Given the description of an element on the screen output the (x, y) to click on. 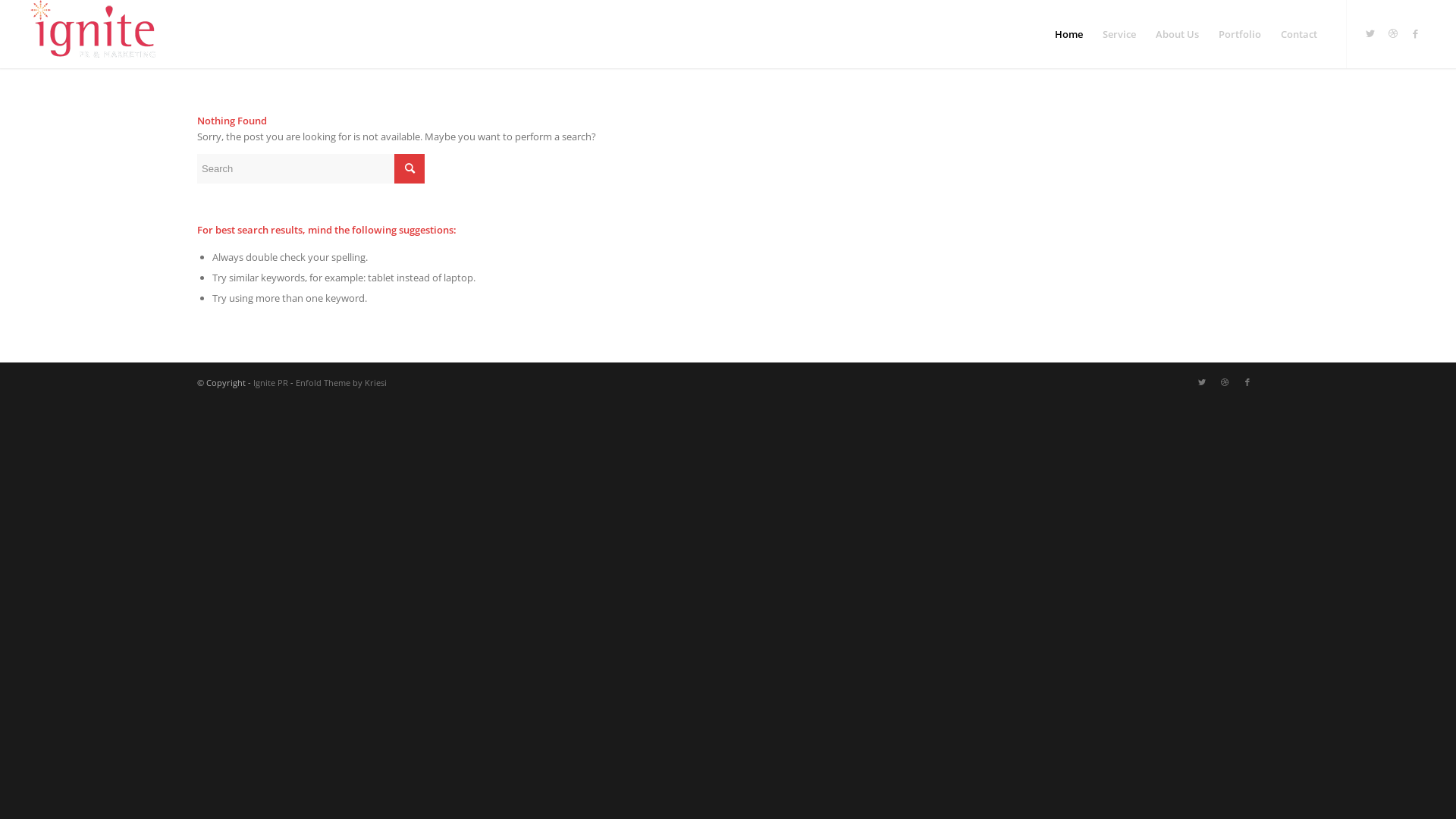
Portfolio Element type: text (1239, 34)
Twitter Element type: hover (1201, 381)
Facebook Element type: hover (1247, 381)
Enfold Theme by Kriesi Element type: text (340, 382)
Service Element type: text (1118, 34)
About Us Element type: text (1176, 34)
Facebook Element type: hover (1415, 32)
Home Element type: text (1068, 34)
Dribbble Element type: hover (1392, 32)
Dribbble Element type: hover (1224, 381)
Contact Element type: text (1298, 34)
Ignite-WebLogo01 Element type: hover (92, 28)
Ignite PR Element type: text (270, 382)
Twitter Element type: hover (1369, 32)
